Given the description of an element on the screen output the (x, y) to click on. 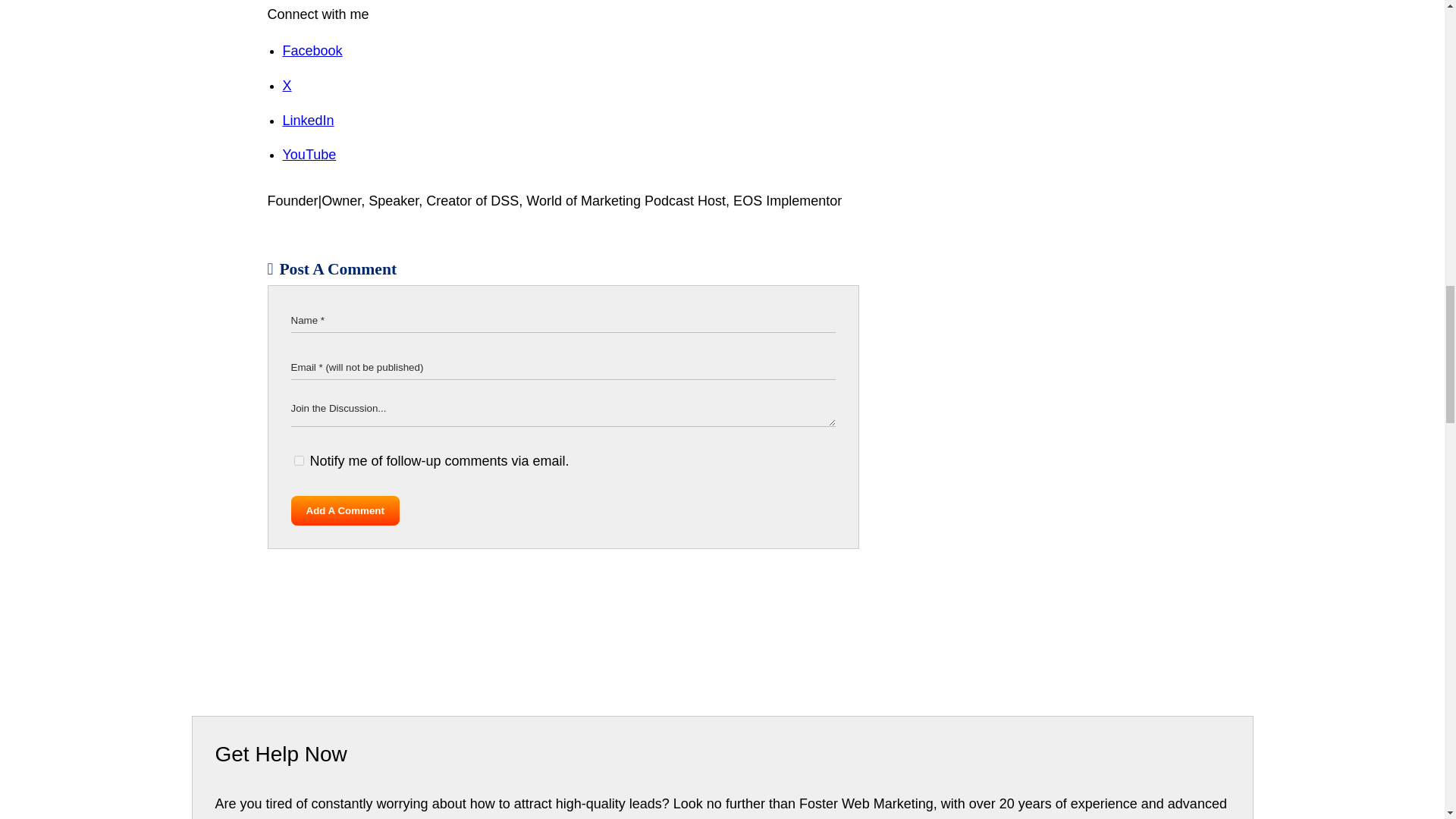
Watch me on YouTube (309, 154)
Connect with me on LinkedIn (307, 120)
Find me on Facebook (312, 50)
1 (299, 460)
